Given the description of an element on the screen output the (x, y) to click on. 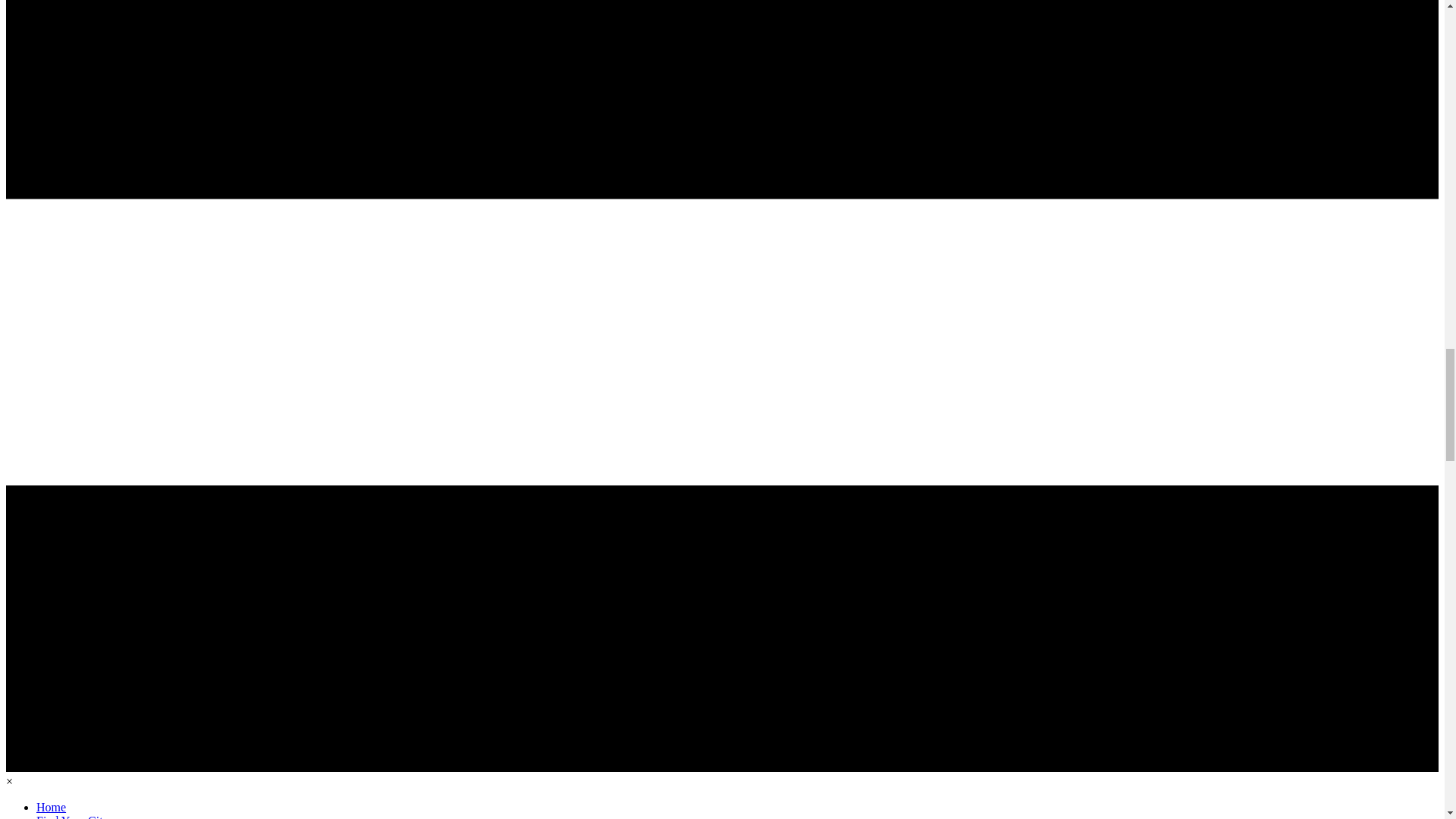
Home (50, 807)
Find Your City (72, 816)
